Given the description of an element on the screen output the (x, y) to click on. 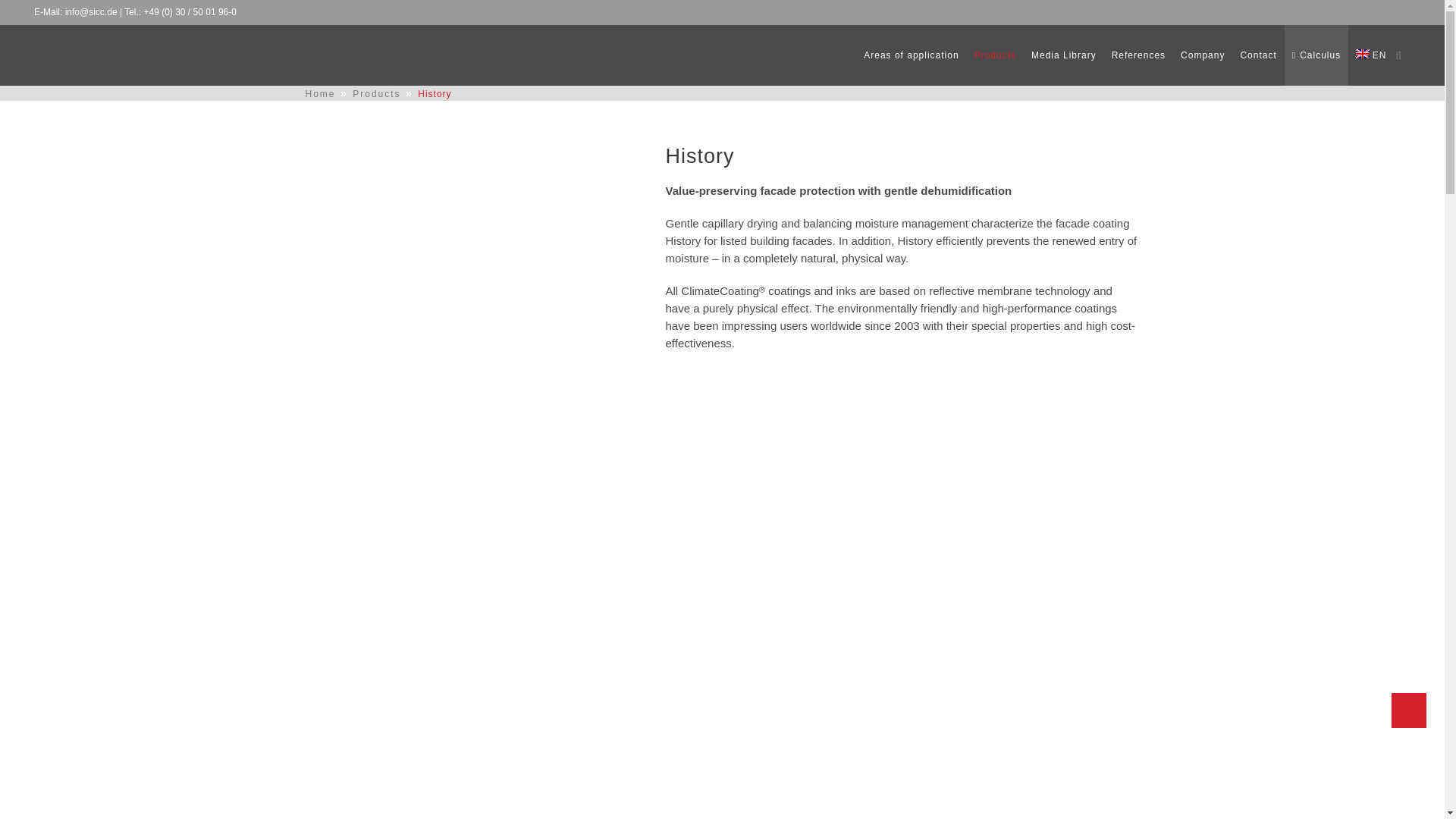
Import (1398, 0)
Products (994, 55)
Areas of application (911, 55)
